Given the description of an element on the screen output the (x, y) to click on. 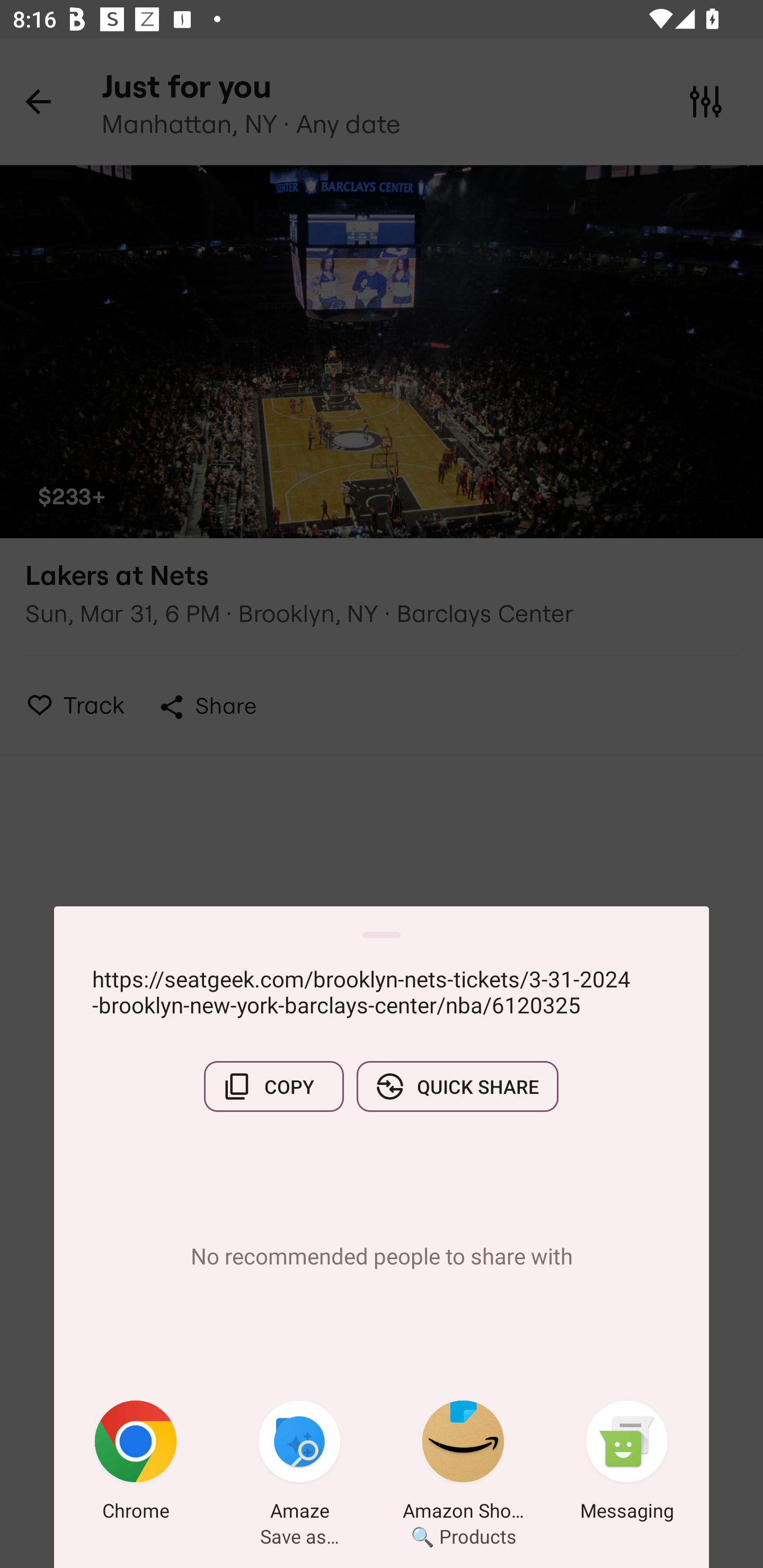
COPY (273, 1086)
QUICK SHARE (457, 1086)
Chrome (135, 1463)
Amaze Save as… (299, 1463)
Amazon Shopping 🔍 Products (463, 1463)
Messaging (626, 1463)
